Given the description of an element on the screen output the (x, y) to click on. 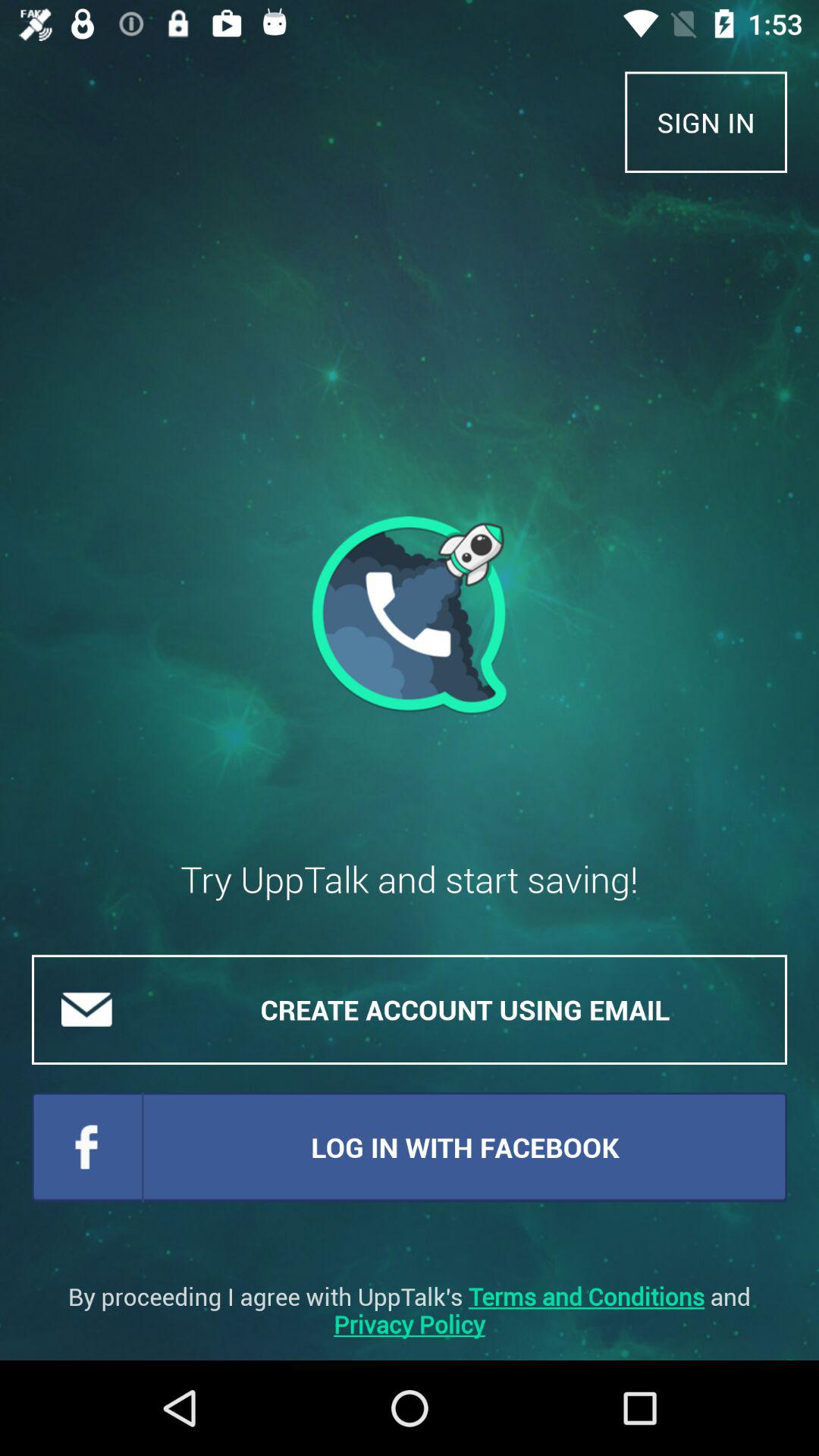
open item above try upptalk and icon (409, 615)
